Given the description of an element on the screen output the (x, y) to click on. 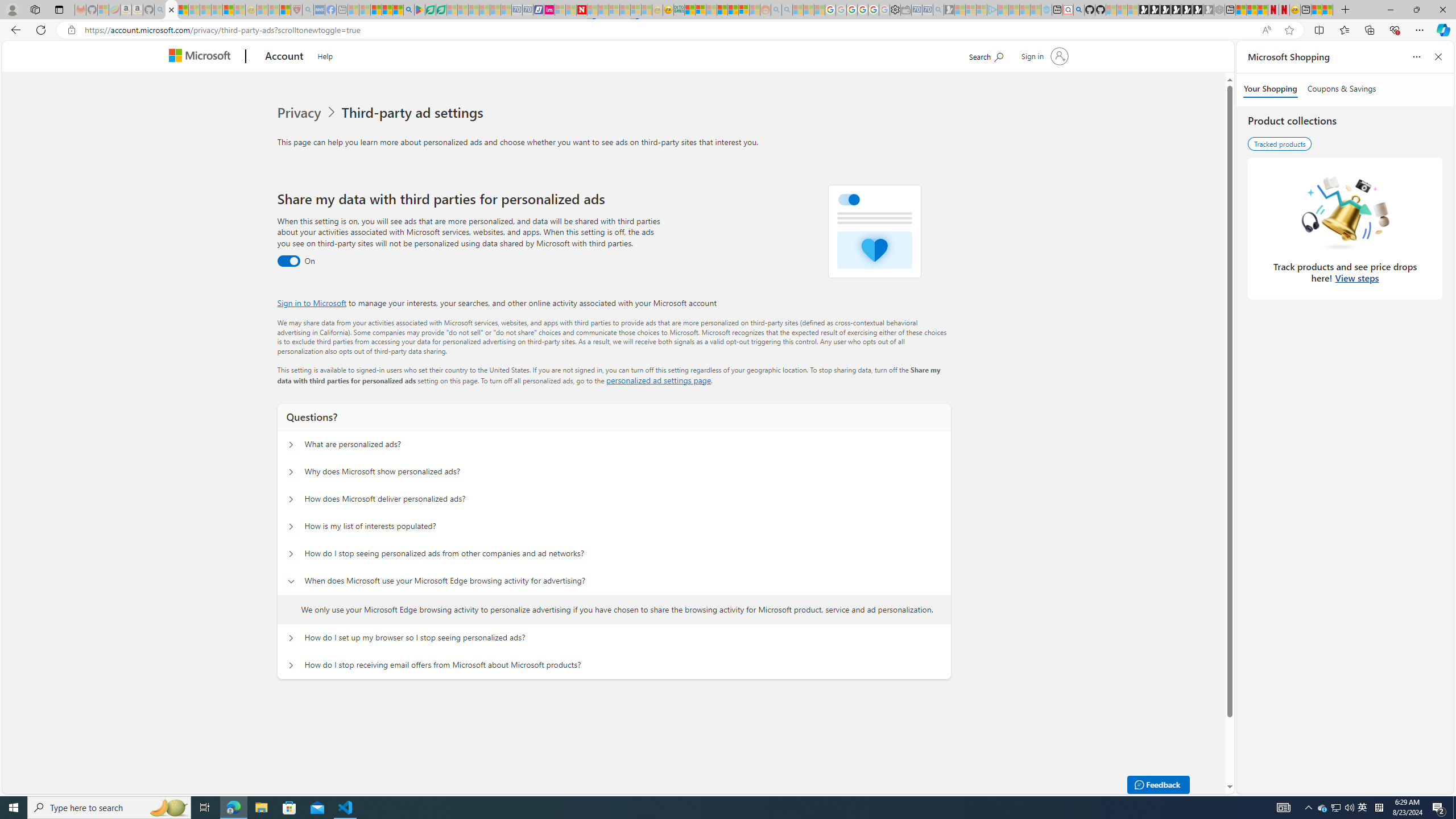
Kinda Frugal - MSN (733, 9)
Third party data sharing toggle (287, 260)
Questions? How does Microsoft deliver personalized ads? (290, 499)
Expert Portfolios (721, 9)
